Given the description of an element on the screen output the (x, y) to click on. 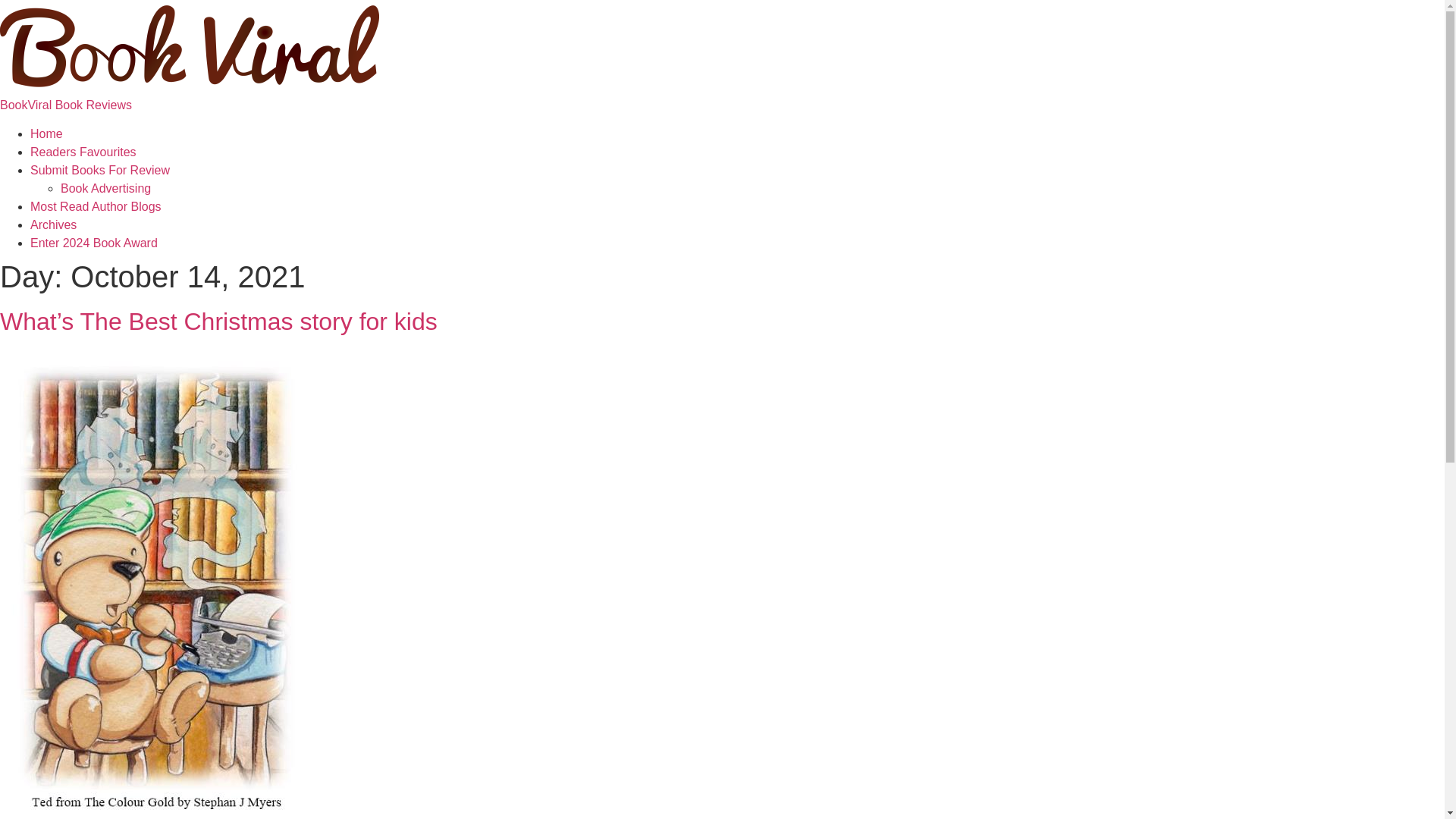
Readers Favourites (83, 151)
Submit Books For Review (100, 169)
Home (46, 133)
Most Read Author Blogs (95, 205)
Home (66, 104)
Enter 2024 Book Award (93, 242)
Book Advertising (106, 187)
Archives (53, 224)
BookViral Book Reviews (66, 104)
